Given the description of an element on the screen output the (x, y) to click on. 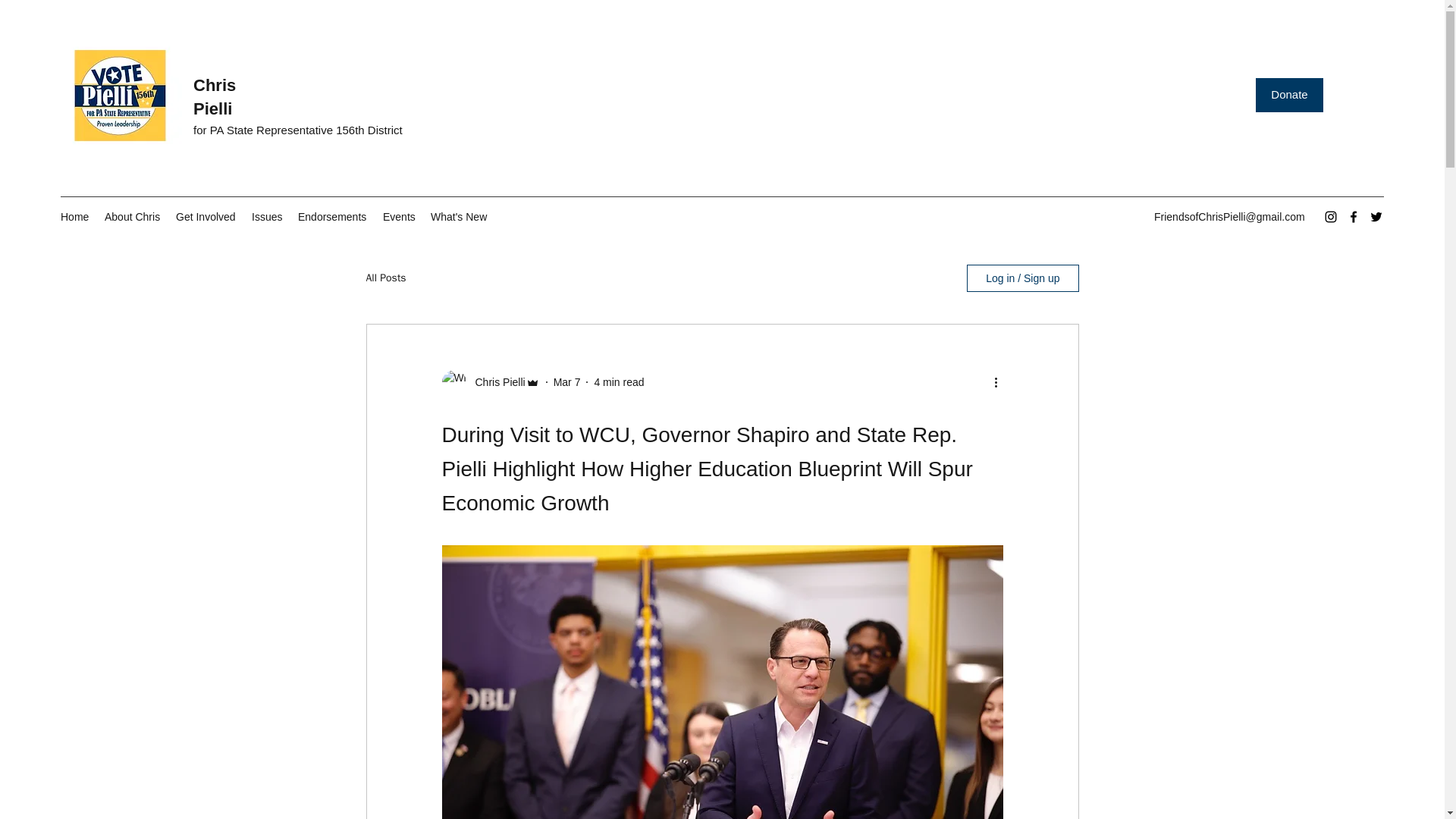
Donate (1289, 94)
Events (399, 216)
Get Involved (206, 216)
All Posts (385, 278)
4 min read (618, 381)
Chris Pielli (214, 96)
Home (74, 216)
Endorsements (332, 216)
About Chris (132, 216)
Chris Pielli (494, 382)
